Given the description of an element on the screen output the (x, y) to click on. 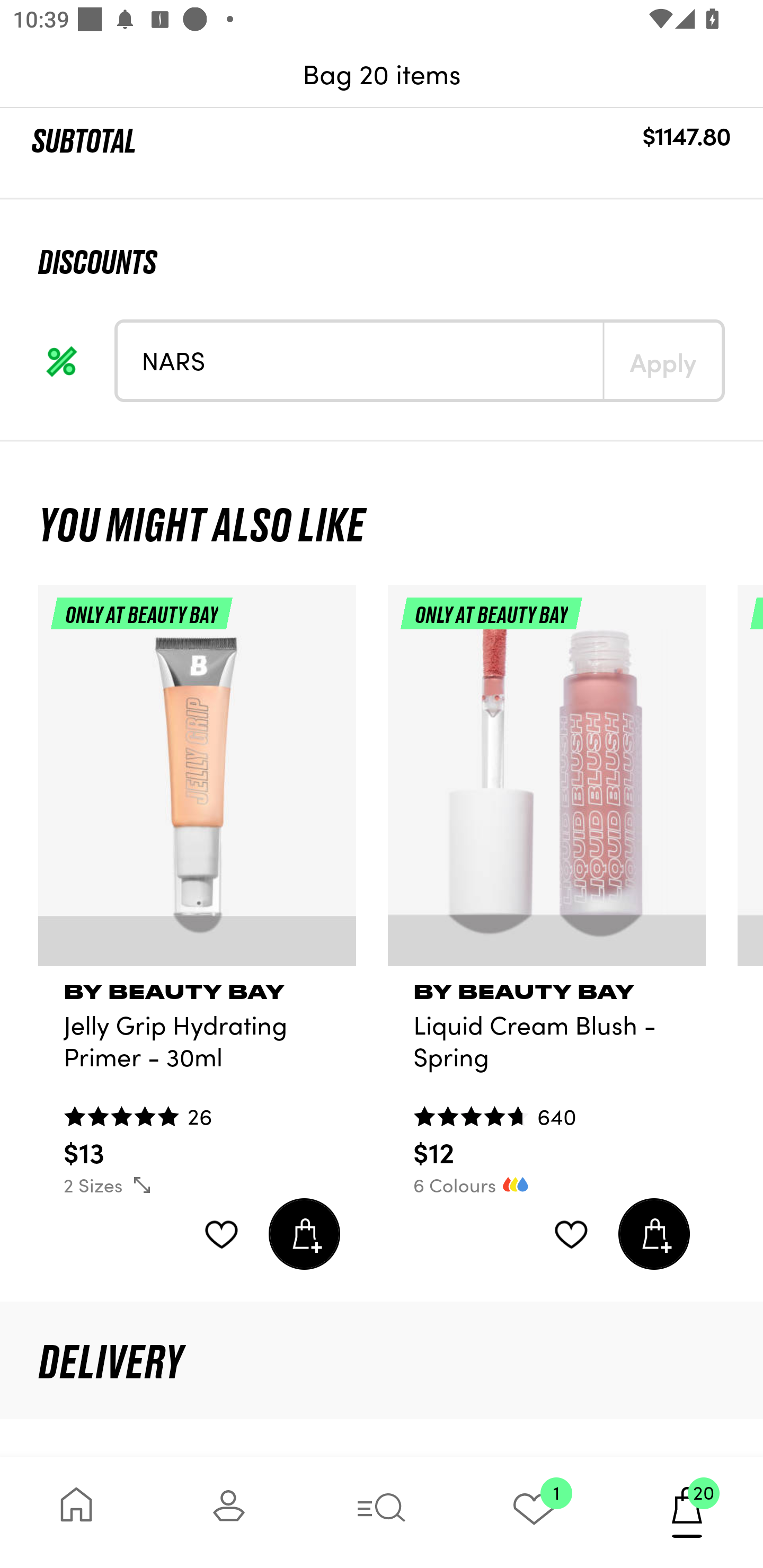
NARS (360, 360)
Apply (661, 360)
ONLY AT BEAUTY BAY (197, 782)
ONLY AT BEAUTY BAY (546, 782)
1 (533, 1512)
20 (686, 1512)
